Given the description of an element on the screen output the (x, y) to click on. 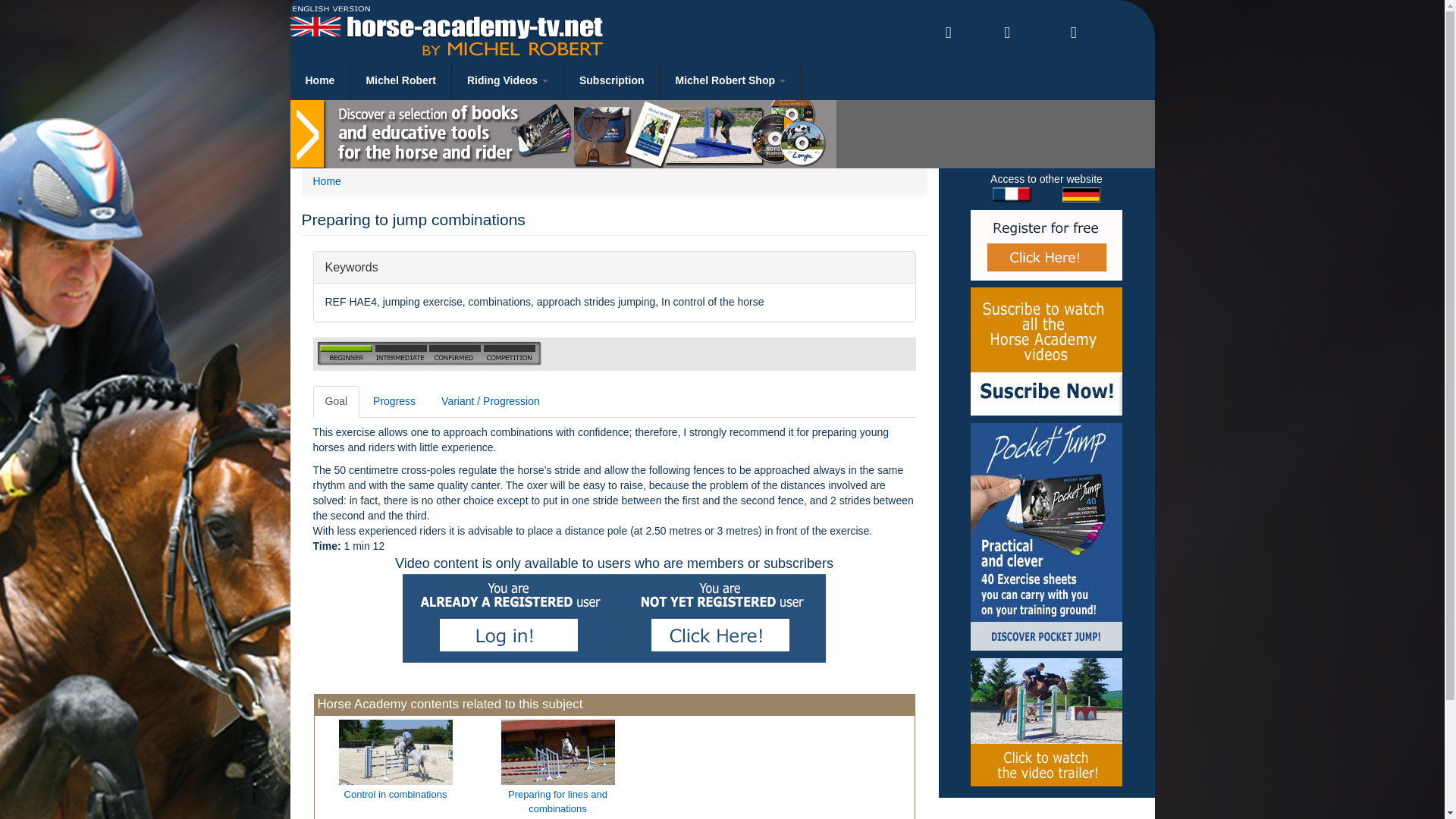
Michel Robert Shop (731, 80)
Control in combinations (395, 760)
Progress (394, 401)
Riding Videos (507, 80)
Horse Academy (319, 80)
Riding Videos (507, 80)
Home (319, 80)
Video trailer (614, 266)
Preparing for lines and combinations (1046, 722)
